Given the description of an element on the screen output the (x, y) to click on. 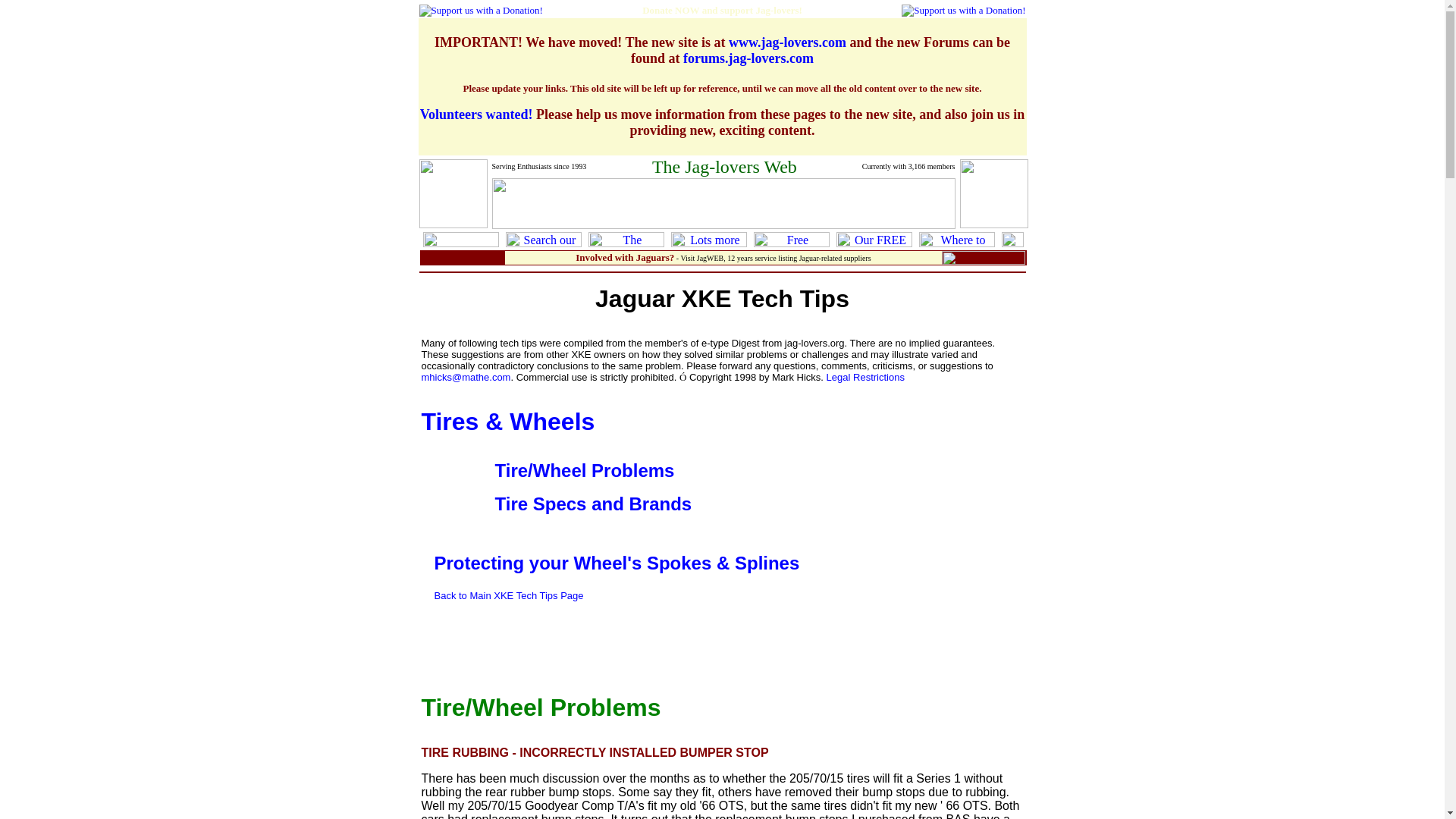
Where to find information about the various Jaguar models (956, 239)
Back to Main XKE Tech Tips Page (508, 594)
forums.jag-lovers.com (747, 58)
Support us with a Donation! (963, 10)
www.jag-lovers.com (787, 42)
Lots more links and a guide to what we can provide (708, 239)
Search our Forums or WWW sites (542, 239)
Our FREE users Photo Album (873, 239)
Support us with a Donation! (480, 10)
